Given the description of an element on the screen output the (x, y) to click on. 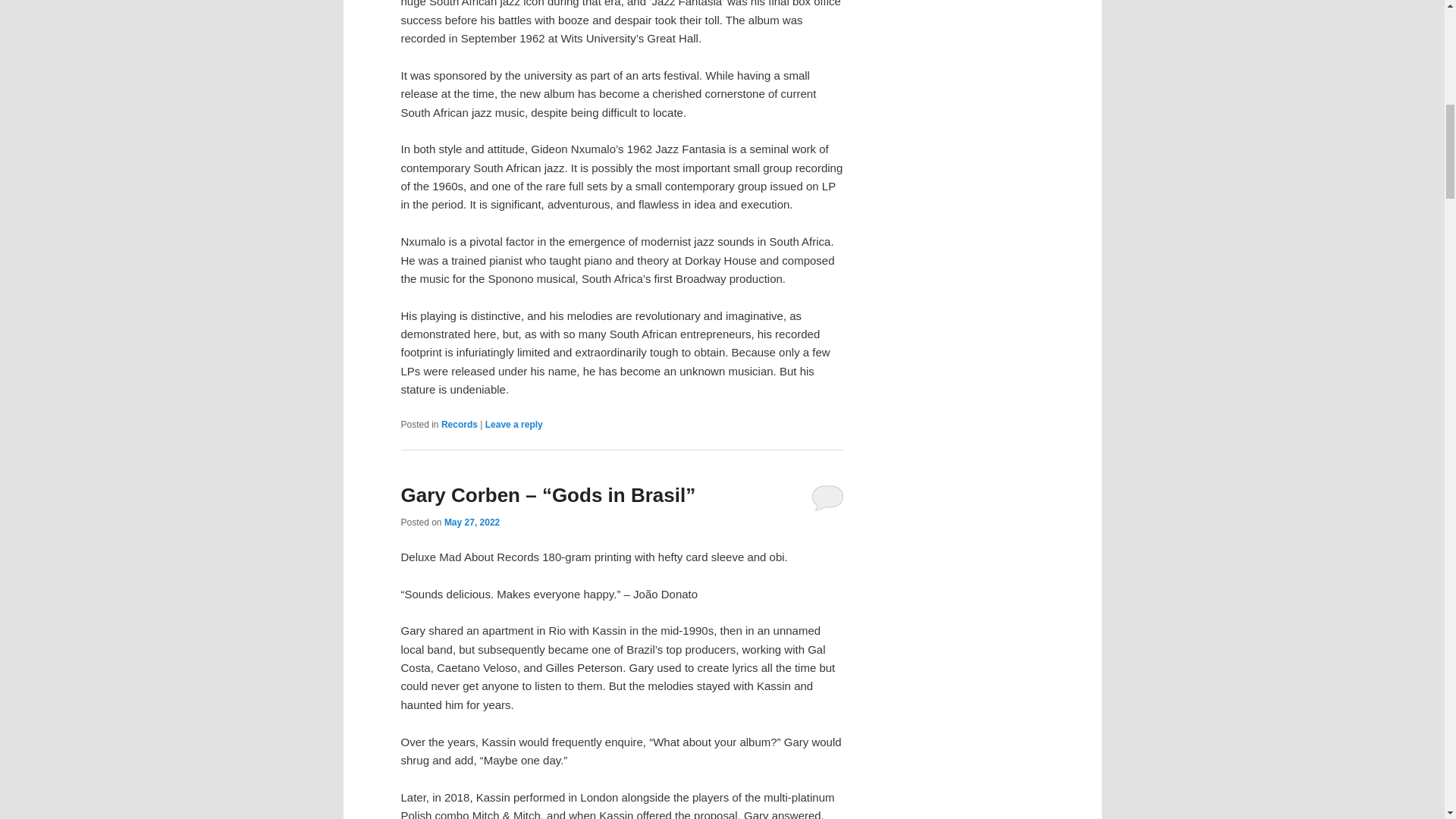
May 27, 2022 (471, 521)
Leave a reply (513, 424)
Records (459, 424)
11:32 am (471, 521)
